Given the description of an element on the screen output the (x, y) to click on. 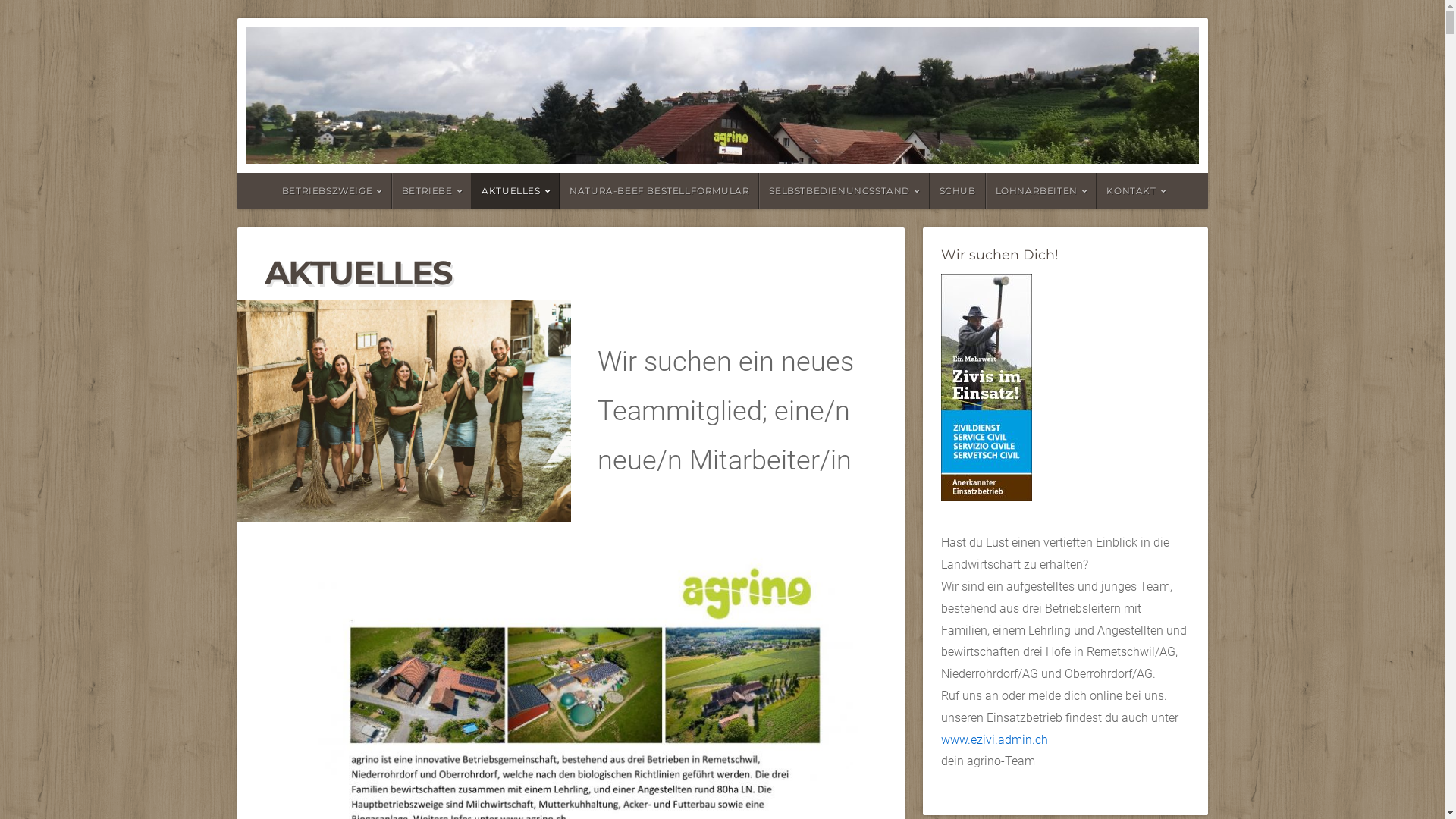
AKTUELLES Element type: text (515, 190)
BETRIEBSZWEIGE Element type: text (330, 190)
SELBSTBEDIENUNGSSTAND Element type: text (843, 190)
KONTAKT Element type: text (1135, 190)
NATURA-BEEF BESTELLFORMULAR Element type: text (659, 190)
BETRIEBE Element type: text (431, 190)
www.ezivi.admin.ch Element type: text (993, 739)
SCHUB Element type: text (957, 190)
LOHNARBEITEN Element type: text (1041, 190)
